Given the description of an element on the screen output the (x, y) to click on. 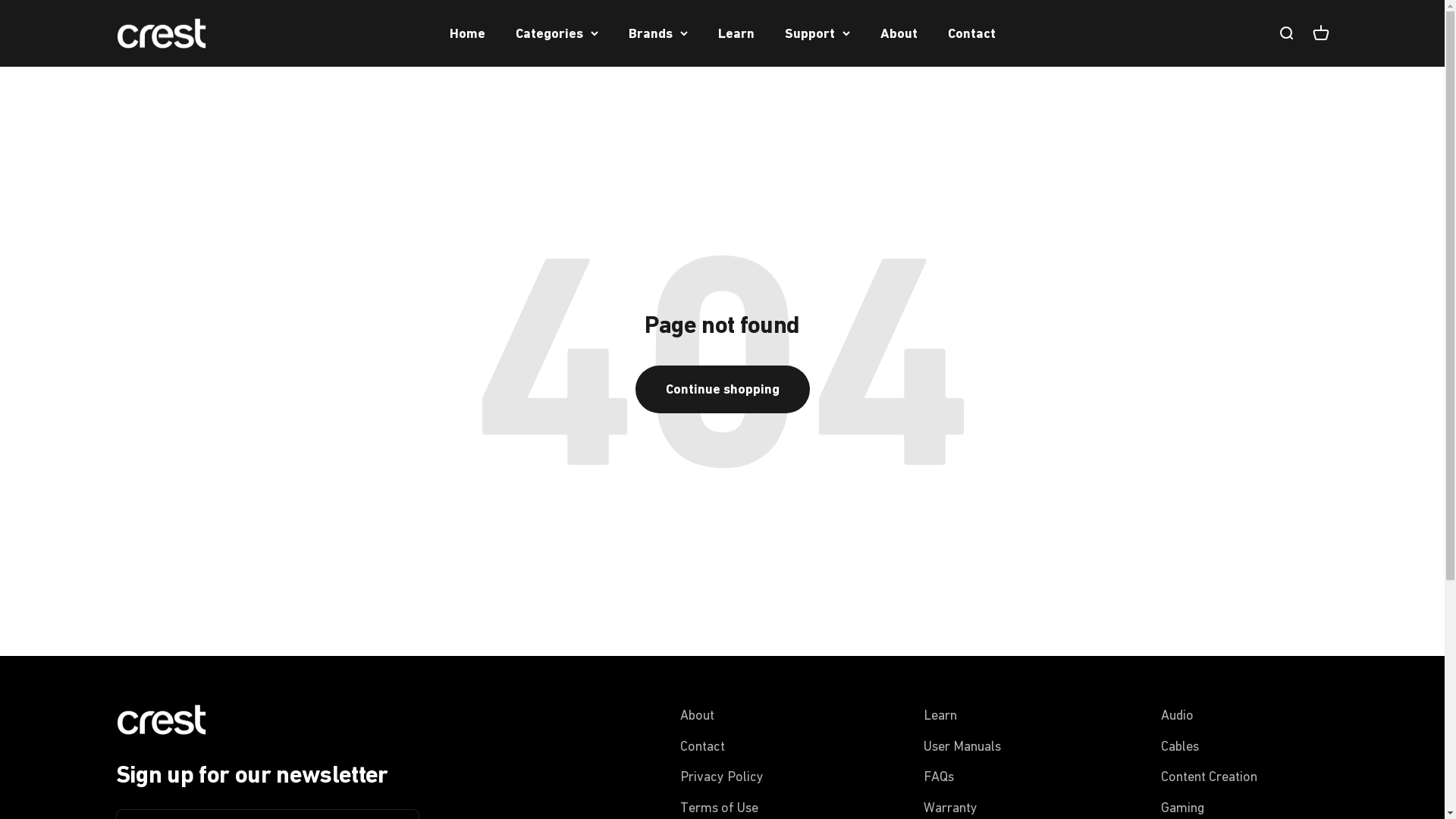
Audio Element type: text (1176, 715)
Learn Element type: text (940, 715)
Open search Element type: text (1285, 33)
Content Creation Element type: text (1208, 776)
User Manuals Element type: text (962, 746)
Learn Element type: text (735, 32)
Privacy Policy Element type: text (721, 776)
Continue shopping Element type: text (722, 389)
Contact Element type: text (971, 32)
Open cart
0 Element type: text (1319, 33)
About Element type: text (897, 32)
About Element type: text (697, 715)
Cables Element type: text (1179, 746)
FAQs Element type: text (938, 776)
The Crest Company Element type: text (160, 33)
Contact Element type: text (702, 746)
Home Element type: text (466, 32)
